Given the description of an element on the screen output the (x, y) to click on. 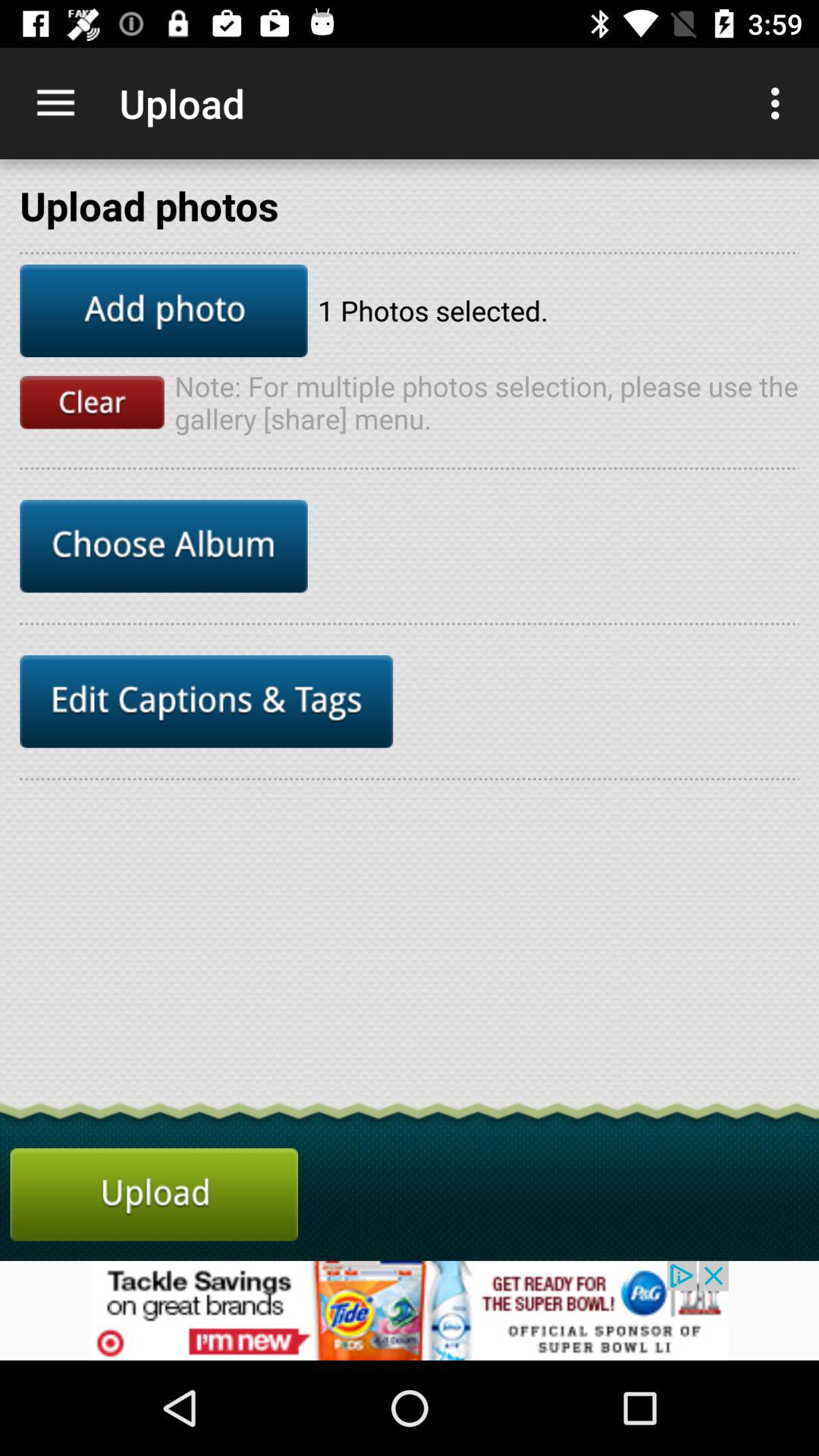
select add photo (163, 310)
